Given the description of an element on the screen output the (x, y) to click on. 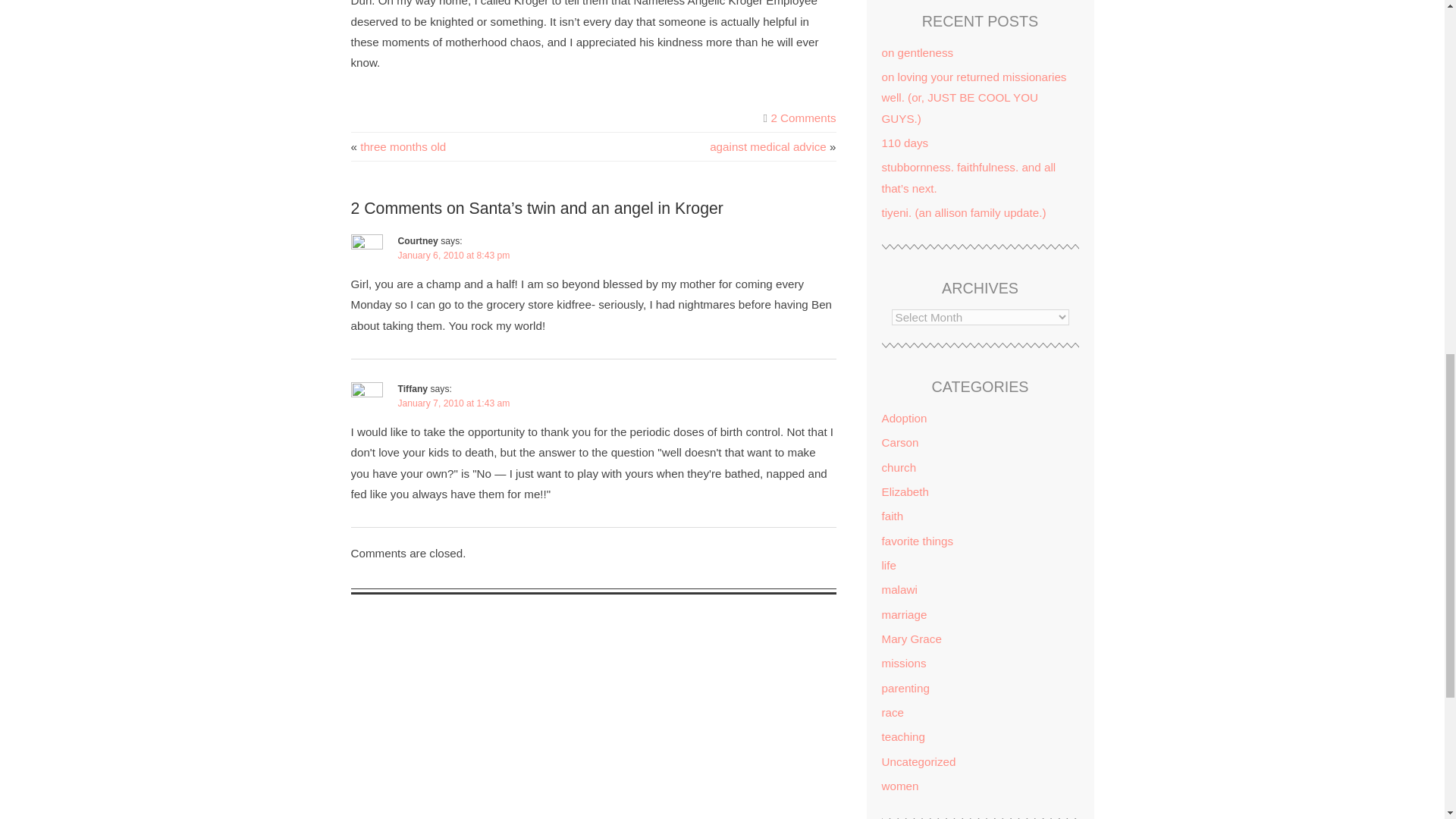
Elizabeth (904, 491)
January 7, 2010 at 1:43 am (453, 403)
January 6, 2010 at 8:43 pm (453, 255)
Uncategorized (917, 761)
Carson (899, 441)
2 Comments (802, 117)
missions (903, 662)
Adoption (903, 418)
favorite things (916, 540)
on gentleness (916, 51)
church (897, 467)
three months old (402, 146)
marriage (903, 614)
Mary Grace (910, 638)
110 days (904, 142)
